Given the description of an element on the screen output the (x, y) to click on. 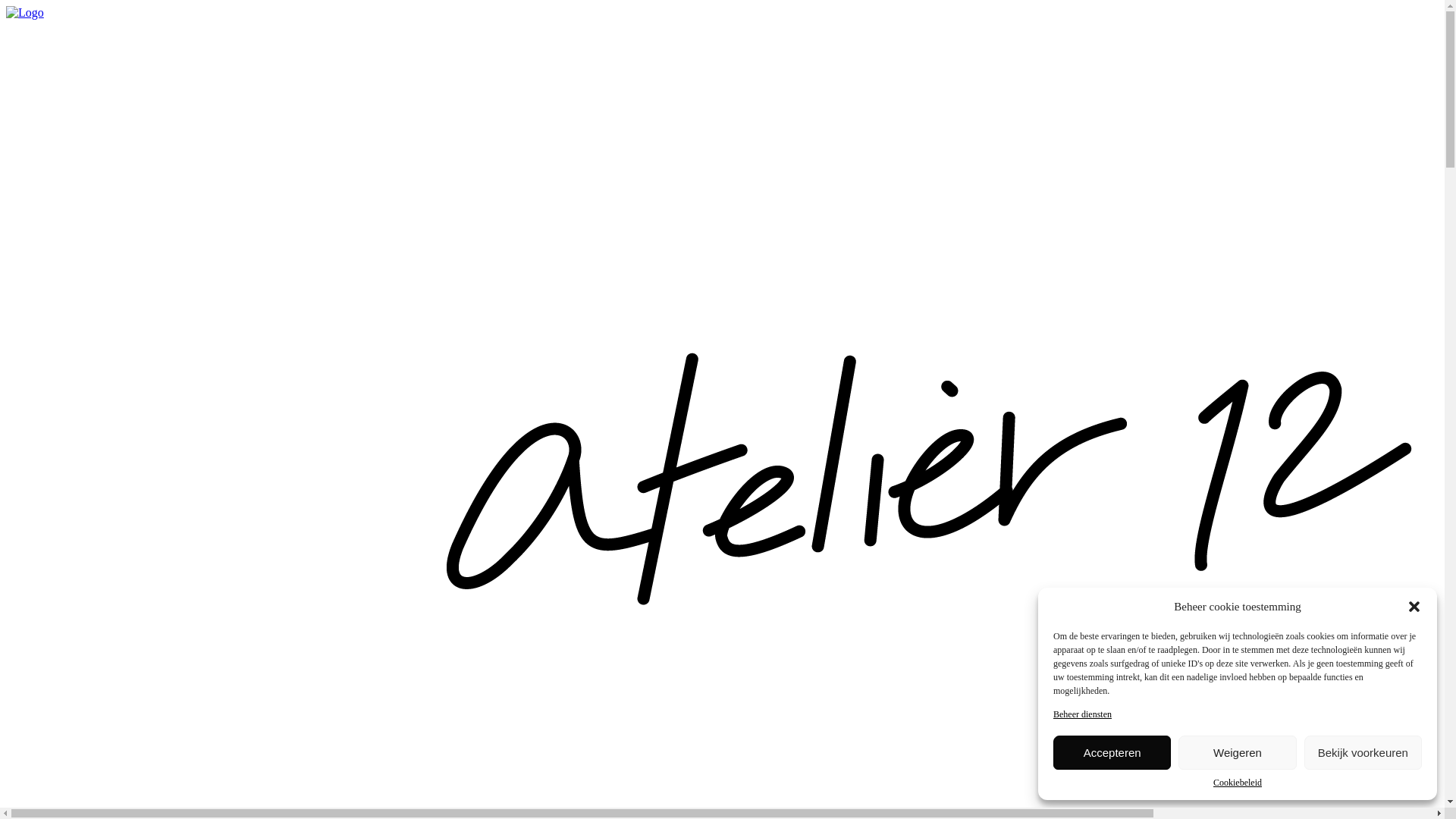
Accepteren Element type: text (1111, 752)
Weigeren Element type: text (1236, 752)
Cookiebeleid Element type: text (1237, 782)
Bekijk voorkeuren Element type: text (1362, 752)
Beheer diensten Element type: text (1082, 714)
